Given the description of an element on the screen output the (x, y) to click on. 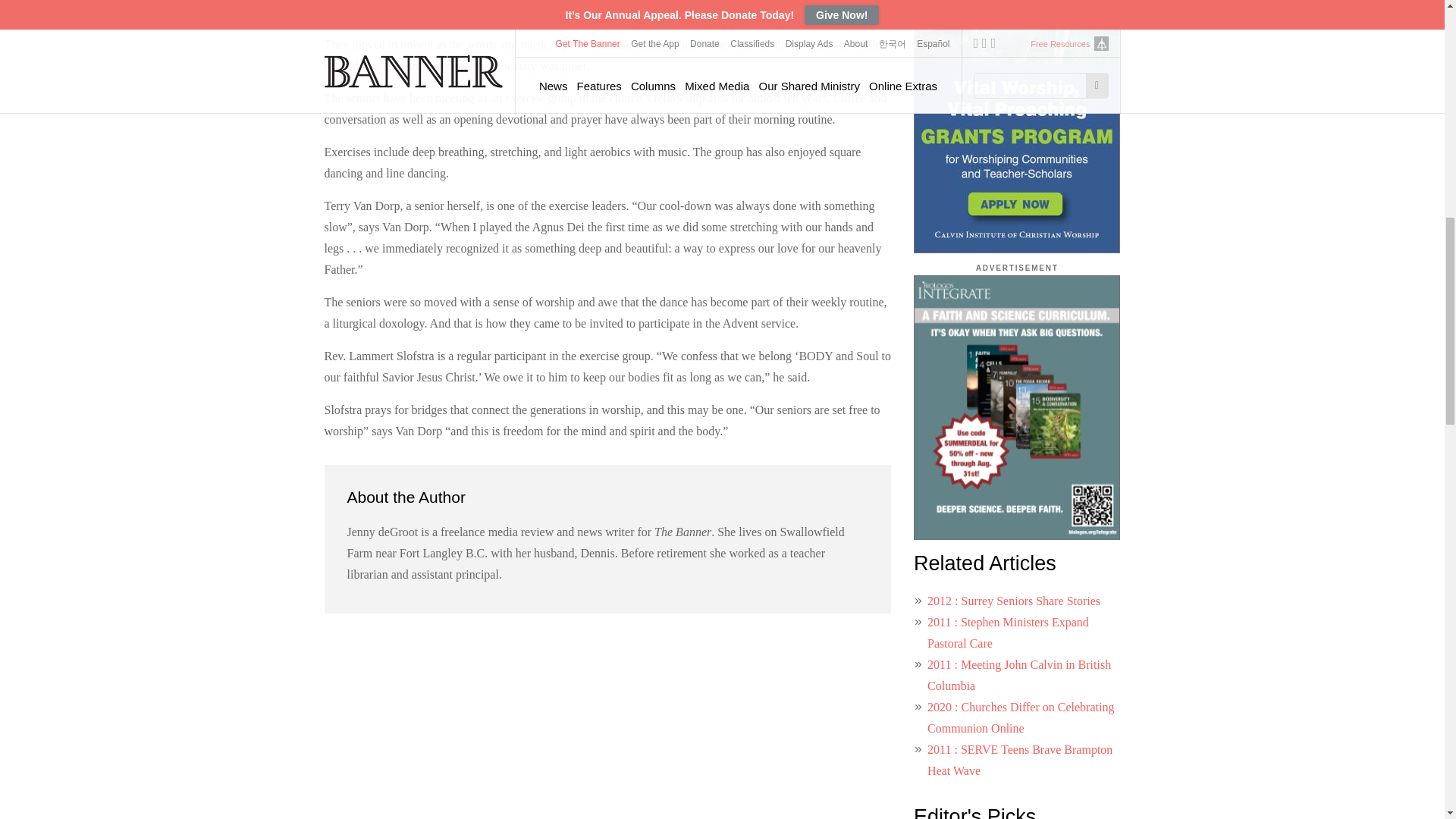
2011 : SERVE Teens Brave Brampton Heat Wave (1019, 759)
2020 : Churches Differ on Celebrating Communion Online (1020, 717)
2011 : Meeting John Calvin in British Columbia (1018, 675)
2011 : Stephen Ministers Expand Pastoral Care (1008, 632)
2012 : Surrey Seniors Share Stories (1013, 600)
